Given the description of an element on the screen output the (x, y) to click on. 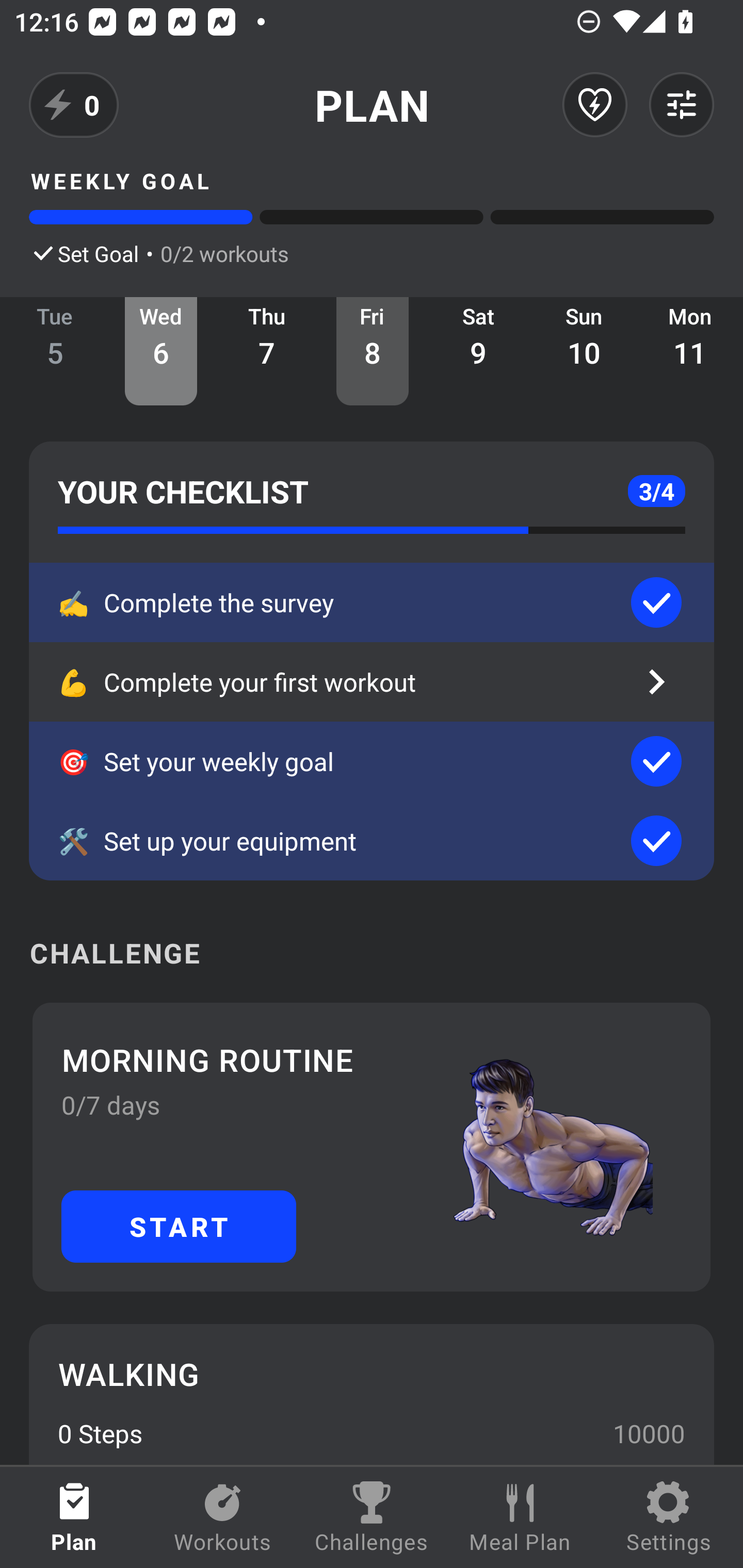
0 (73, 104)
Tue 5 (55, 351)
Wed 6 (160, 351)
Thu 7 (266, 351)
Fri 8 (372, 351)
Sat 9 (478, 351)
Sun 10 (584, 351)
Mon 11 (690, 351)
💪 Complete your first workout (371, 681)
MORNING ROUTINE 0/7 days START (371, 1146)
START (178, 1226)
WALKING 0 Steps 10000 (371, 1393)
 Workouts  (222, 1517)
 Challenges  (371, 1517)
 Meal Plan  (519, 1517)
 Settings  (668, 1517)
